Given the description of an element on the screen output the (x, y) to click on. 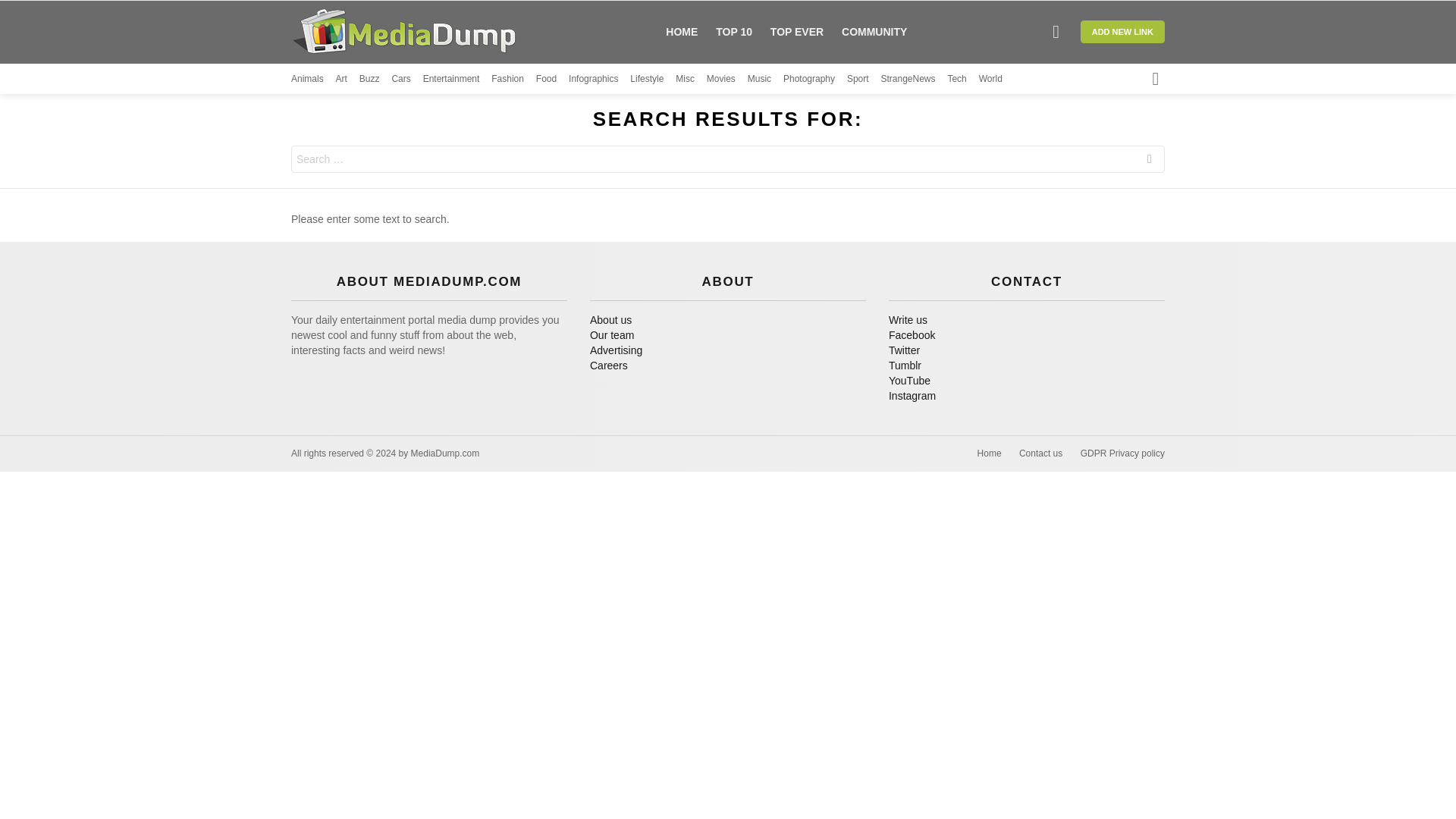
Fashion (508, 78)
Entertainment (451, 78)
TOP 10 (733, 31)
Music (759, 78)
StrangeNews (908, 78)
Infographics (593, 78)
Careers (727, 366)
Photography (808, 78)
Search for: (727, 158)
TOP EVER (796, 31)
Write us (1026, 320)
Advertising (727, 350)
Tumblr (1026, 366)
